Given the description of an element on the screen output the (x, y) to click on. 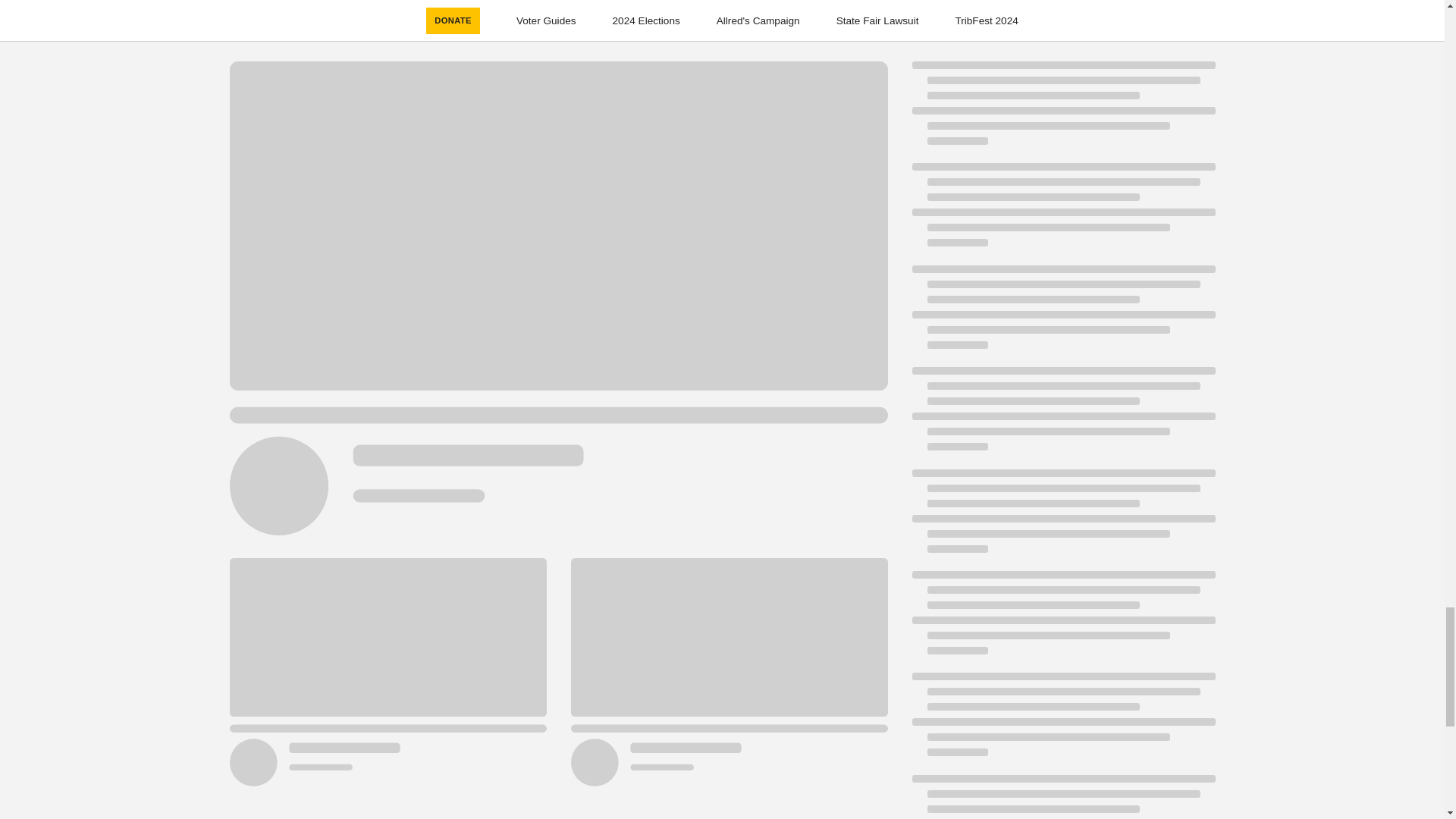
Loading indicator (1062, 721)
Loading indicator (1062, 314)
Loading indicator (1062, 796)
Loading indicator (1062, 110)
Loading indicator (1062, 416)
Loading indicator (1062, 211)
Loading indicator (1062, 518)
Loading indicator (1062, 619)
